Given the description of an element on the screen output the (x, y) to click on. 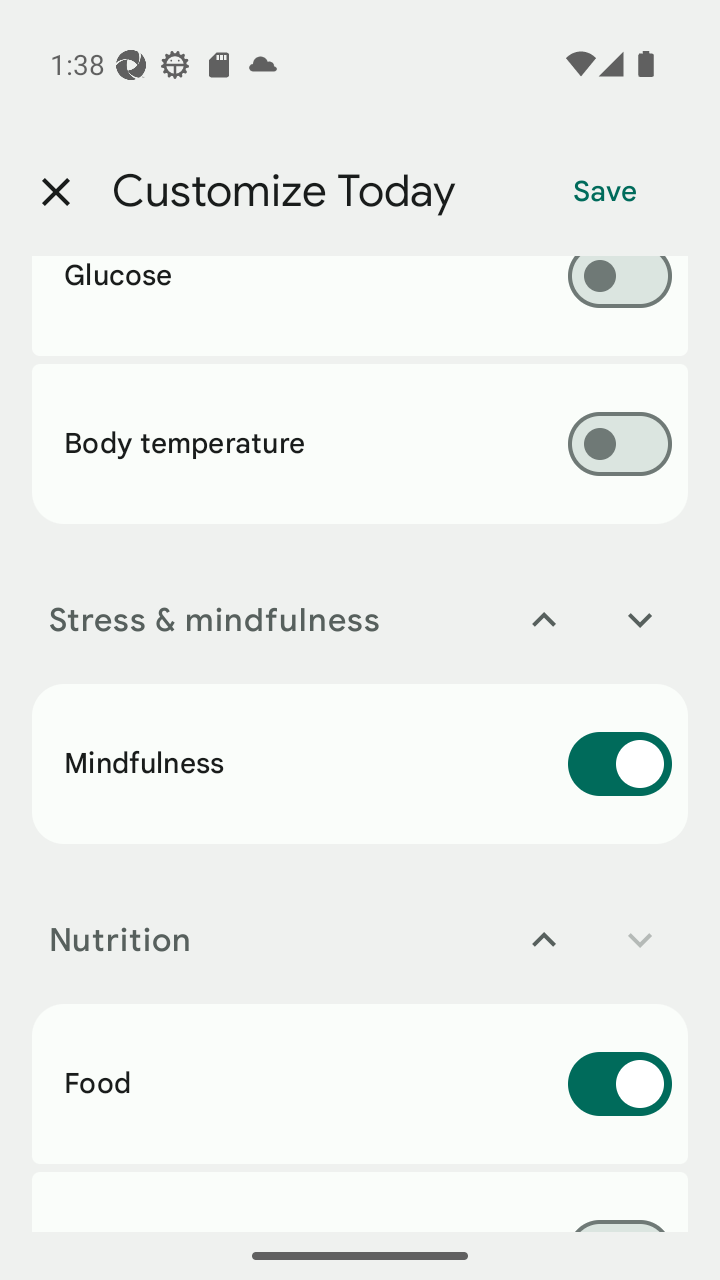
Close (55, 191)
Save (605, 191)
Glucose (359, 305)
Body temperature (359, 443)
Move Stress & mindfulness up (543, 620)
Move Stress & mindfulness down (639, 620)
Mindfulness (359, 763)
Move Nutrition up (543, 940)
Move Nutrition down (639, 940)
Food (359, 1083)
